Given the description of an element on the screen output the (x, y) to click on. 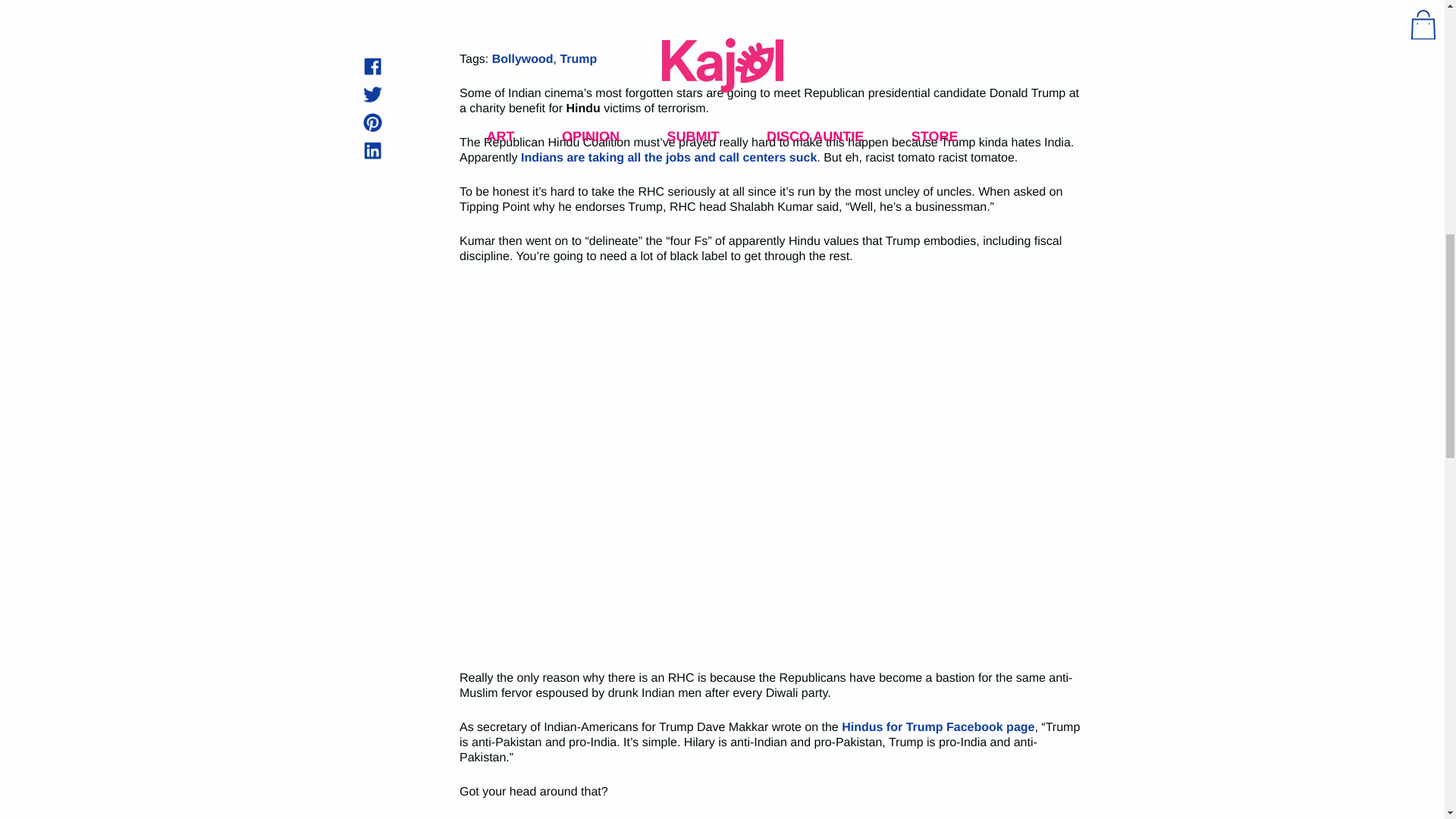
Share on Pinterest (371, 122)
Trump (577, 59)
Hindus for Trump Facebook page (937, 727)
Share on Twitter (371, 94)
Bollywood (522, 59)
Indians are taking all the jobs and call centers suck (668, 157)
Share on Facebook (371, 66)
Share on LinkedIn (371, 149)
